Given the description of an element on the screen output the (x, y) to click on. 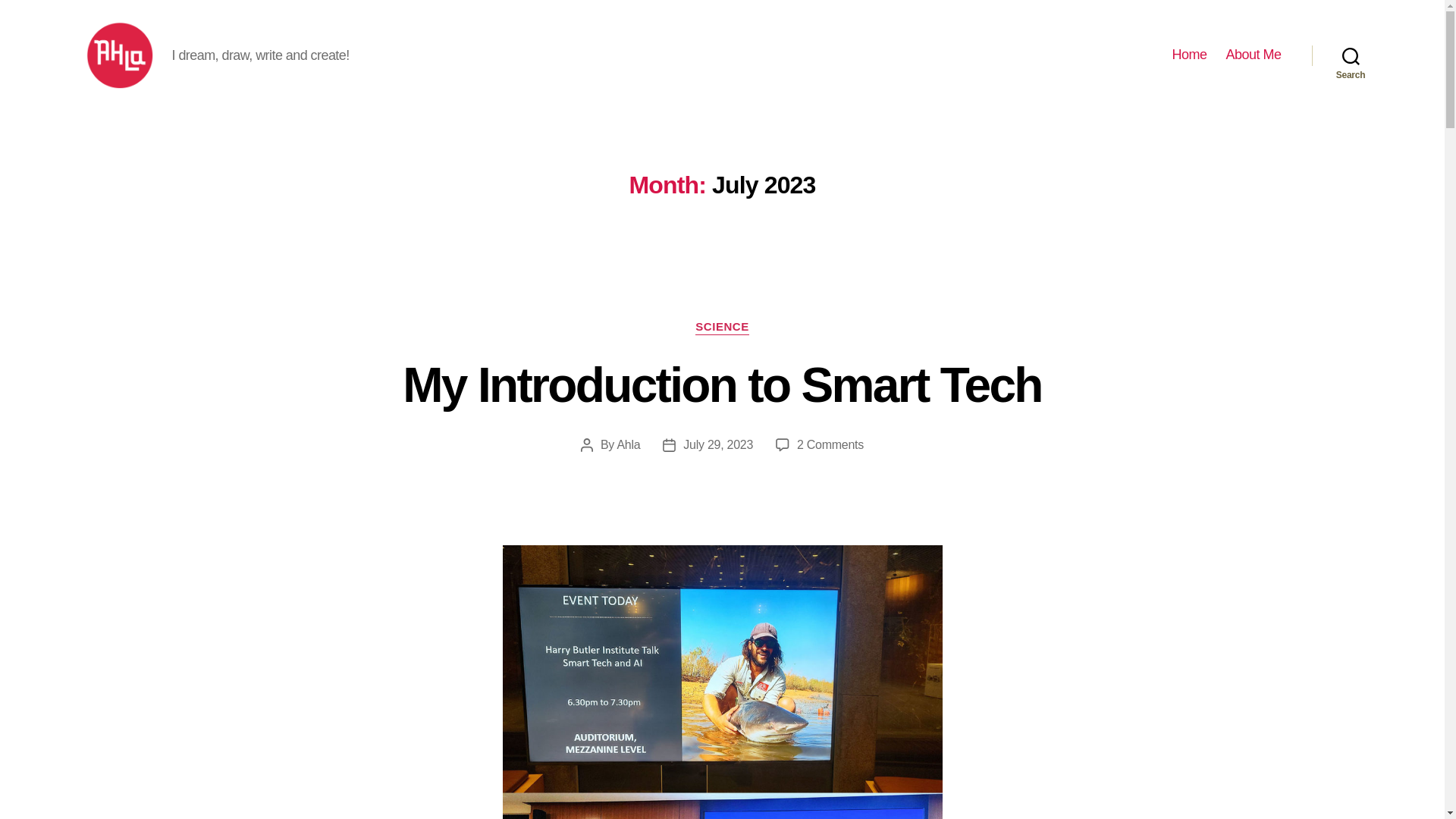
About Me (1253, 54)
Ahla (627, 444)
SCIENCE (722, 327)
Home (829, 444)
Search (1189, 54)
My Introduction to Smart Tech (1350, 55)
July 29, 2023 (722, 384)
